Given the description of an element on the screen output the (x, y) to click on. 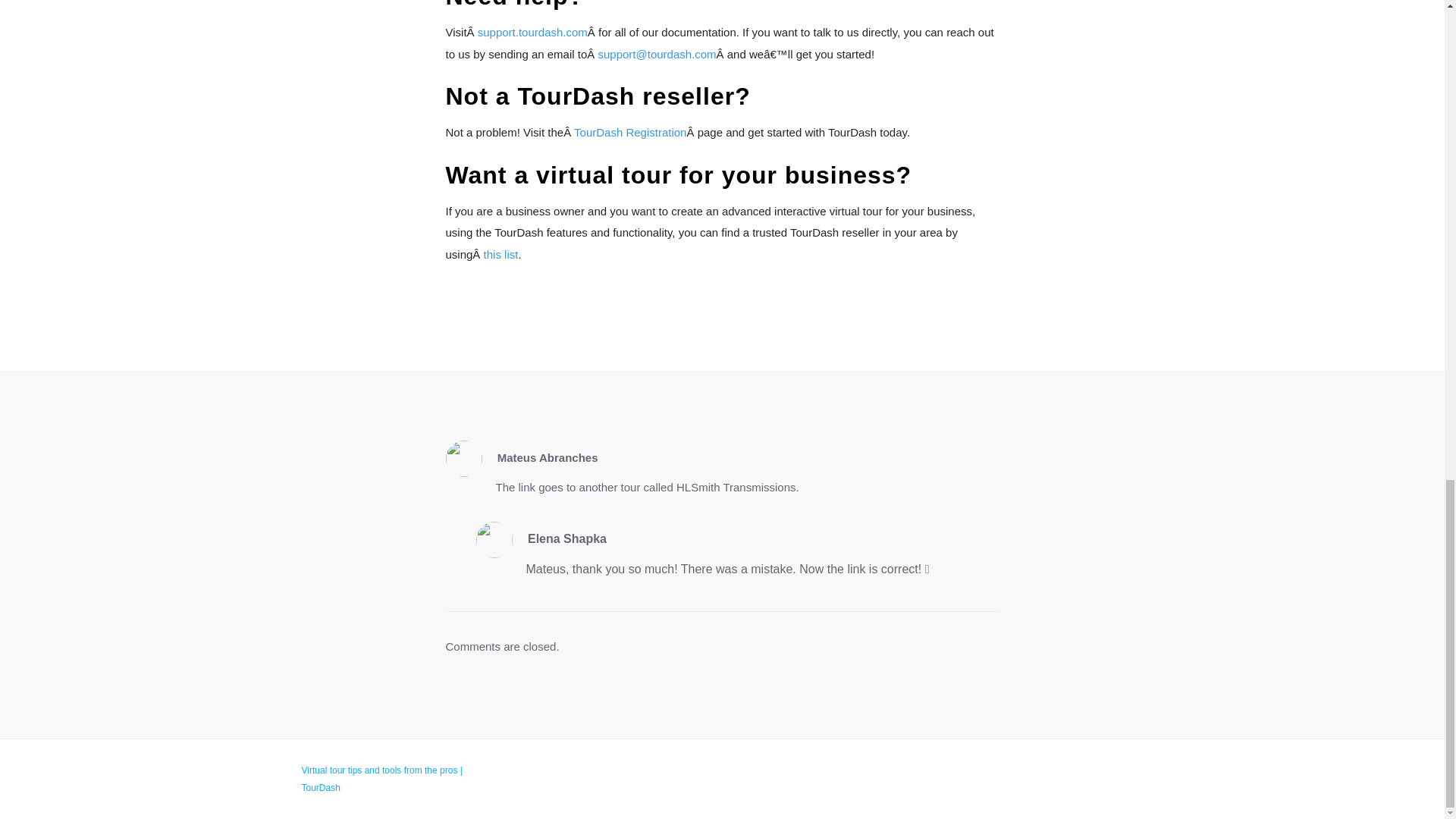
support.tourdash.com (532, 31)
TourDash Registration (629, 132)
this list (500, 254)
